Given the description of an element on the screen output the (x, y) to click on. 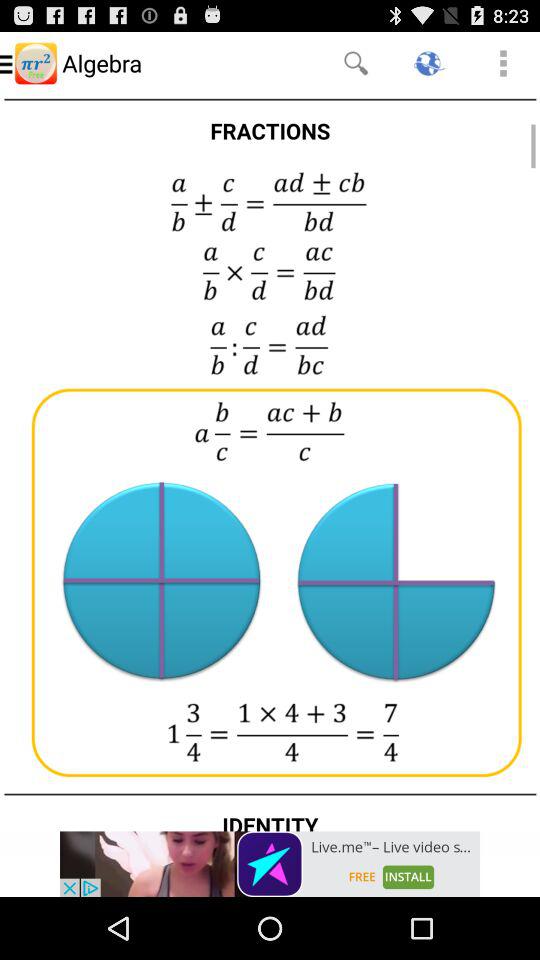
advertisement (270, 864)
